Given the description of an element on the screen output the (x, y) to click on. 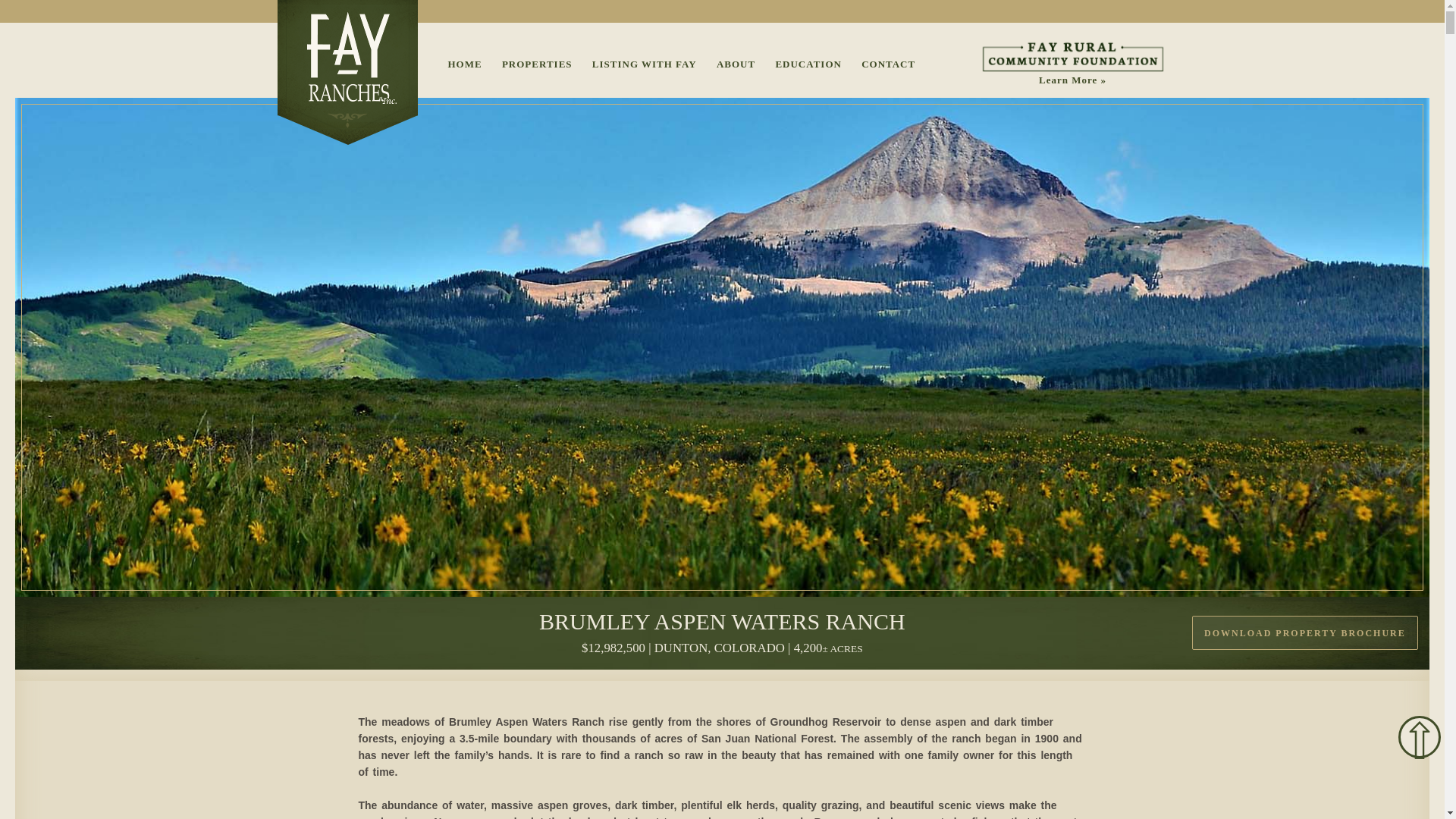
PROPERTIES (537, 63)
Ranches For Sale (537, 63)
HOME (463, 63)
Back to Top (1419, 736)
